Given the description of an element on the screen output the (x, y) to click on. 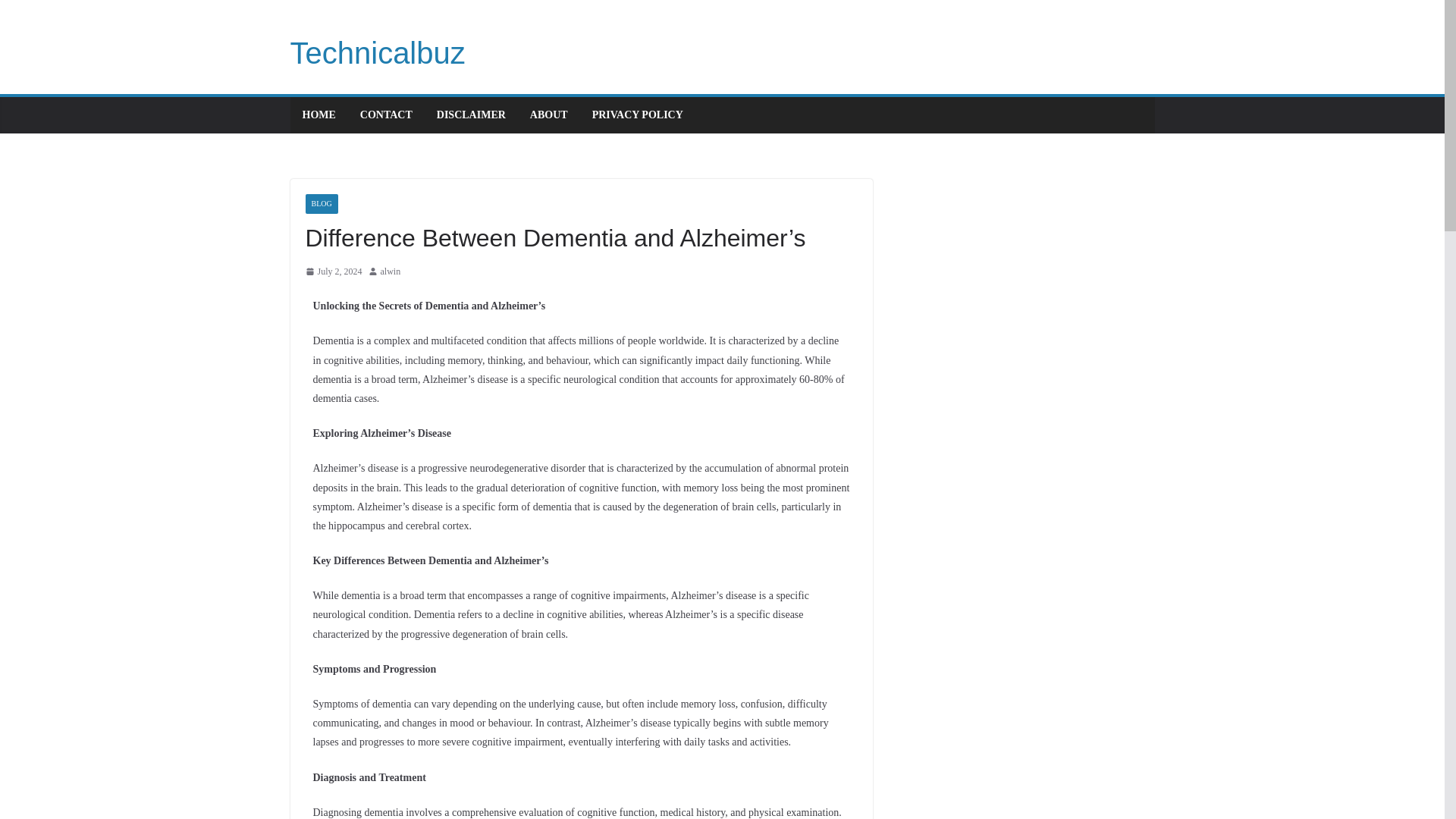
HOME (317, 115)
Technicalbuz (376, 52)
5:33 pm (332, 271)
DISCLAIMER (470, 115)
CONTACT (385, 115)
alwin (390, 271)
alwin (390, 271)
ABOUT (548, 115)
Technicalbuz (376, 52)
BLOG (320, 203)
